Given the description of an element on the screen output the (x, y) to click on. 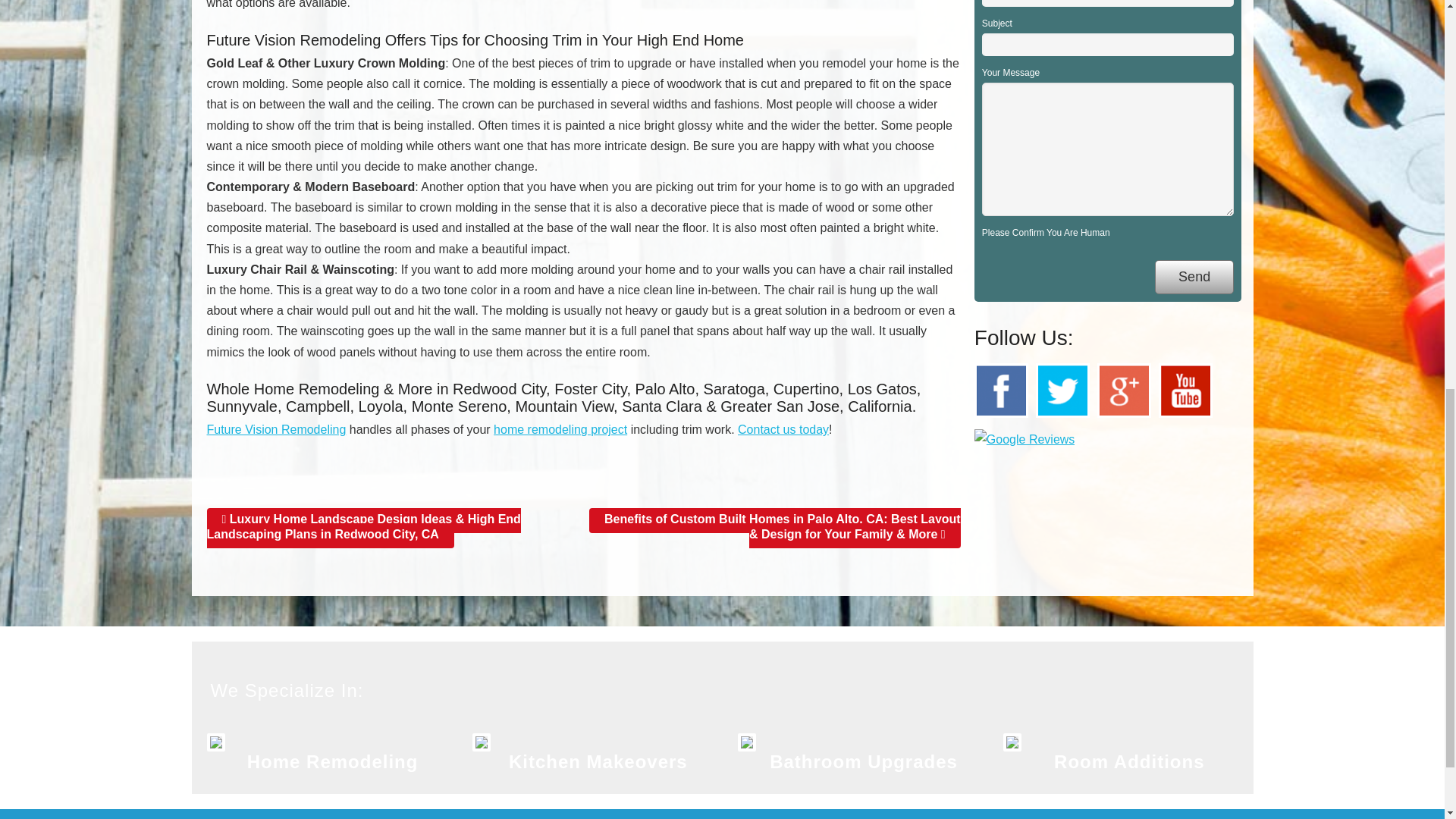
Contact us today (783, 429)
Send (1193, 277)
Send (1193, 277)
home remodeling project (560, 429)
Future Vision Remodeling (276, 429)
